Given the description of an element on the screen output the (x, y) to click on. 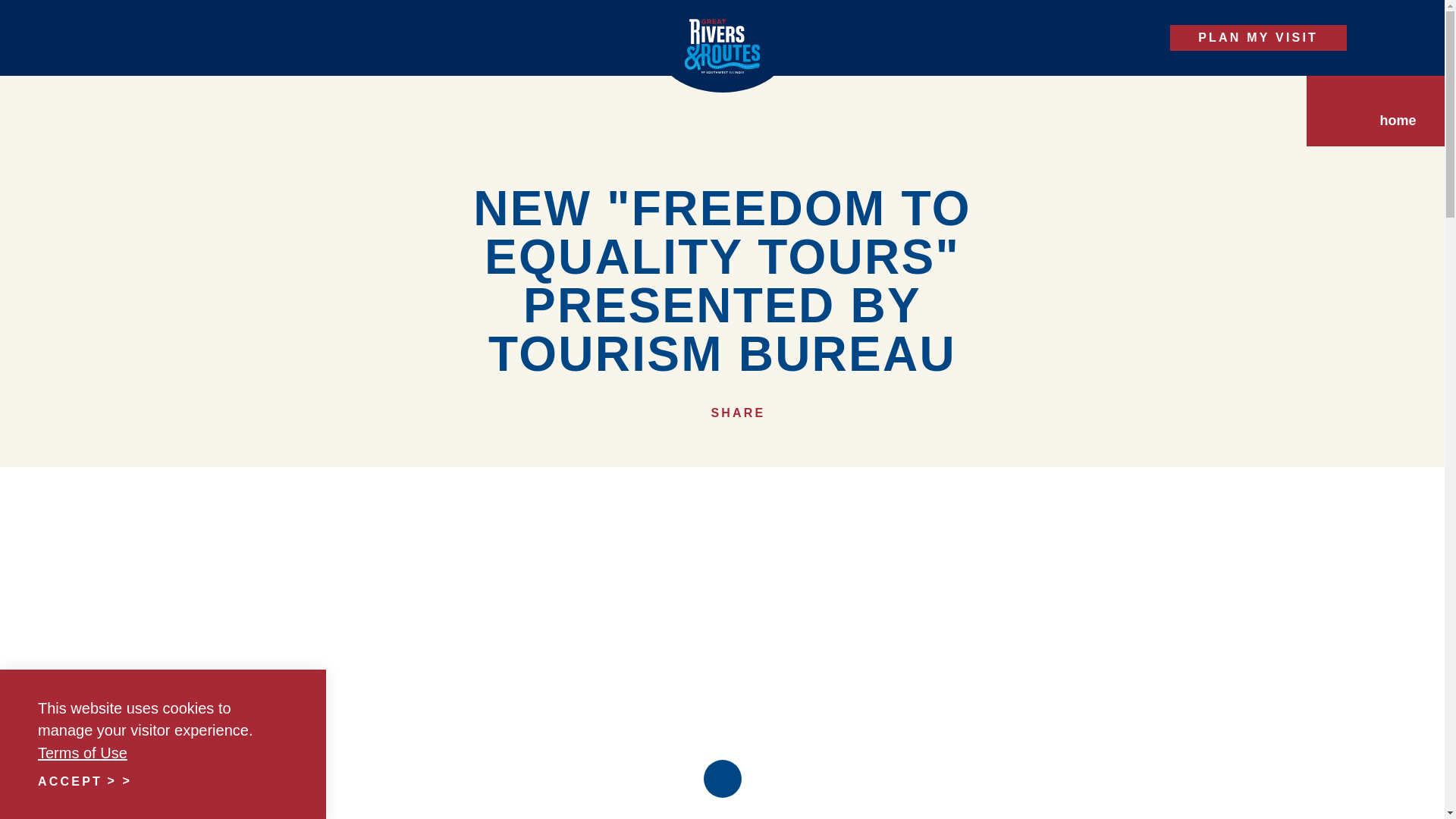
Skip to content (17, 15)
PLAN MY VISIT (1258, 38)
SHARE (721, 413)
